Given the description of an element on the screen output the (x, y) to click on. 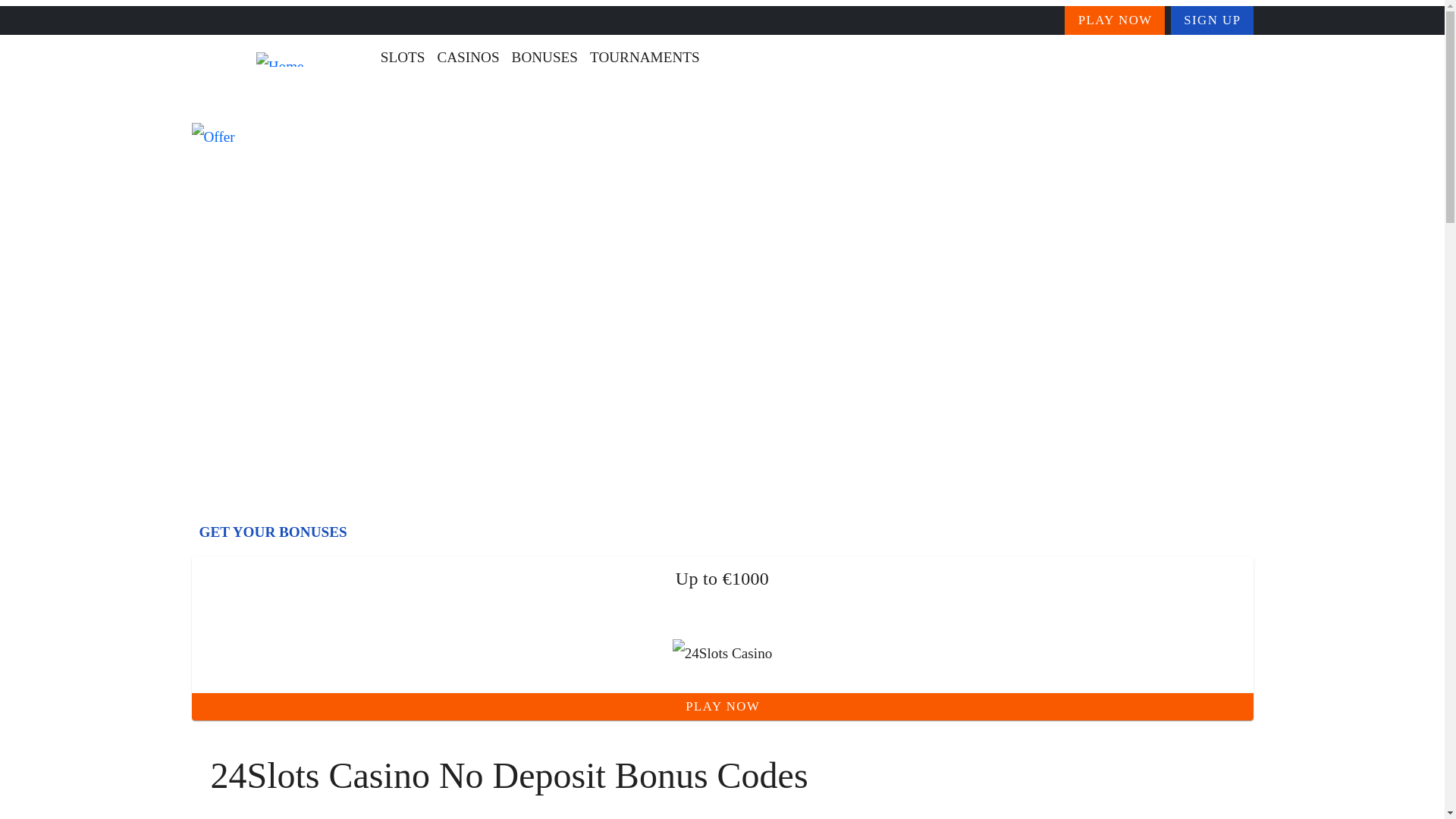
BONUSES (544, 57)
TOURNAMENTS (644, 57)
PLAY NOW (1114, 20)
SLOTS (402, 57)
Home (220, 104)
SIGN UP (1211, 20)
News (288, 104)
PLAY NOW (721, 706)
CASINOS (467, 57)
